Given the description of an element on the screen output the (x, y) to click on. 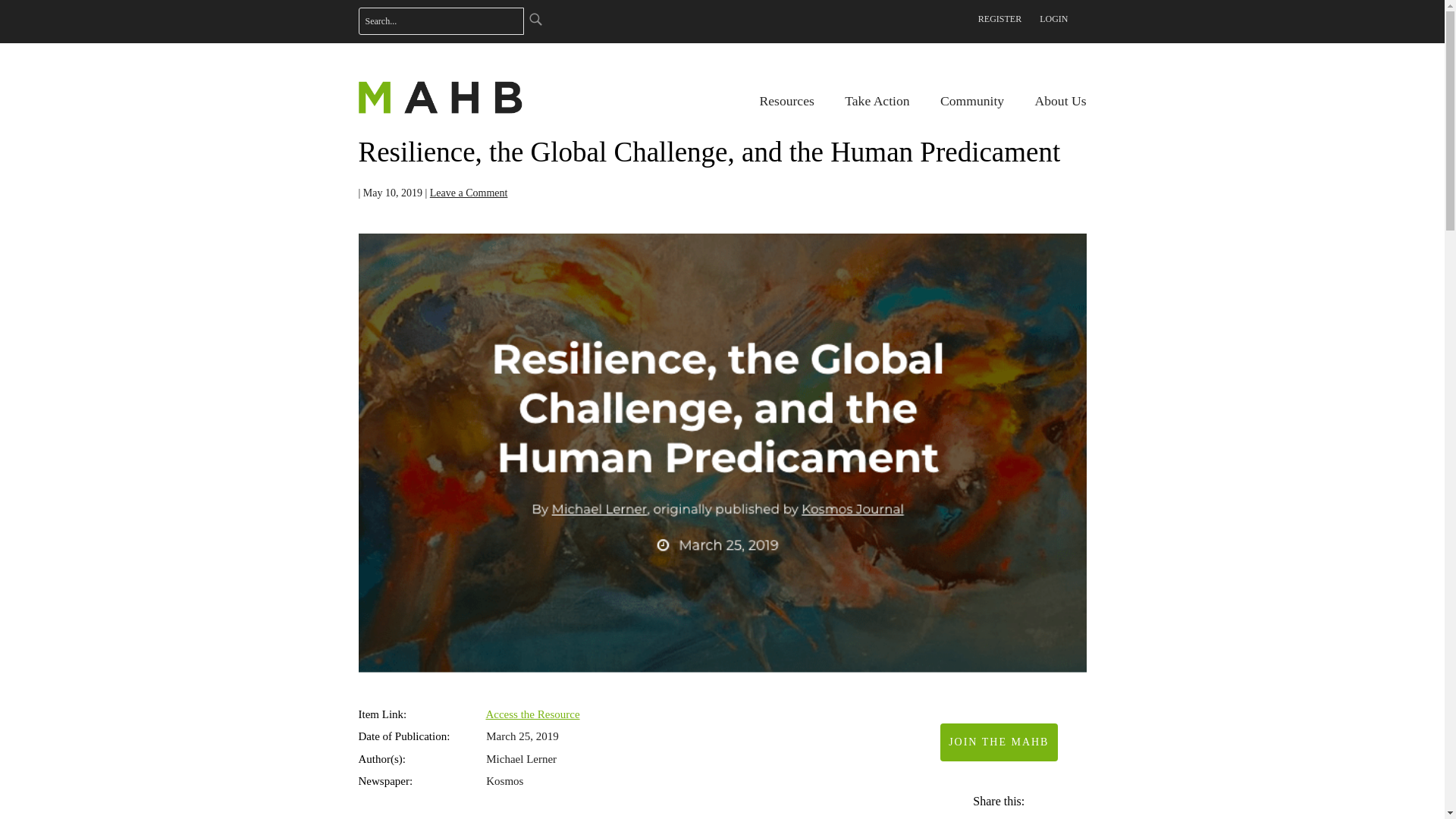
Search (534, 18)
Search (534, 18)
Search (534, 18)
LOGIN (1053, 18)
REGISTER (1000, 18)
